Given the description of an element on the screen output the (x, y) to click on. 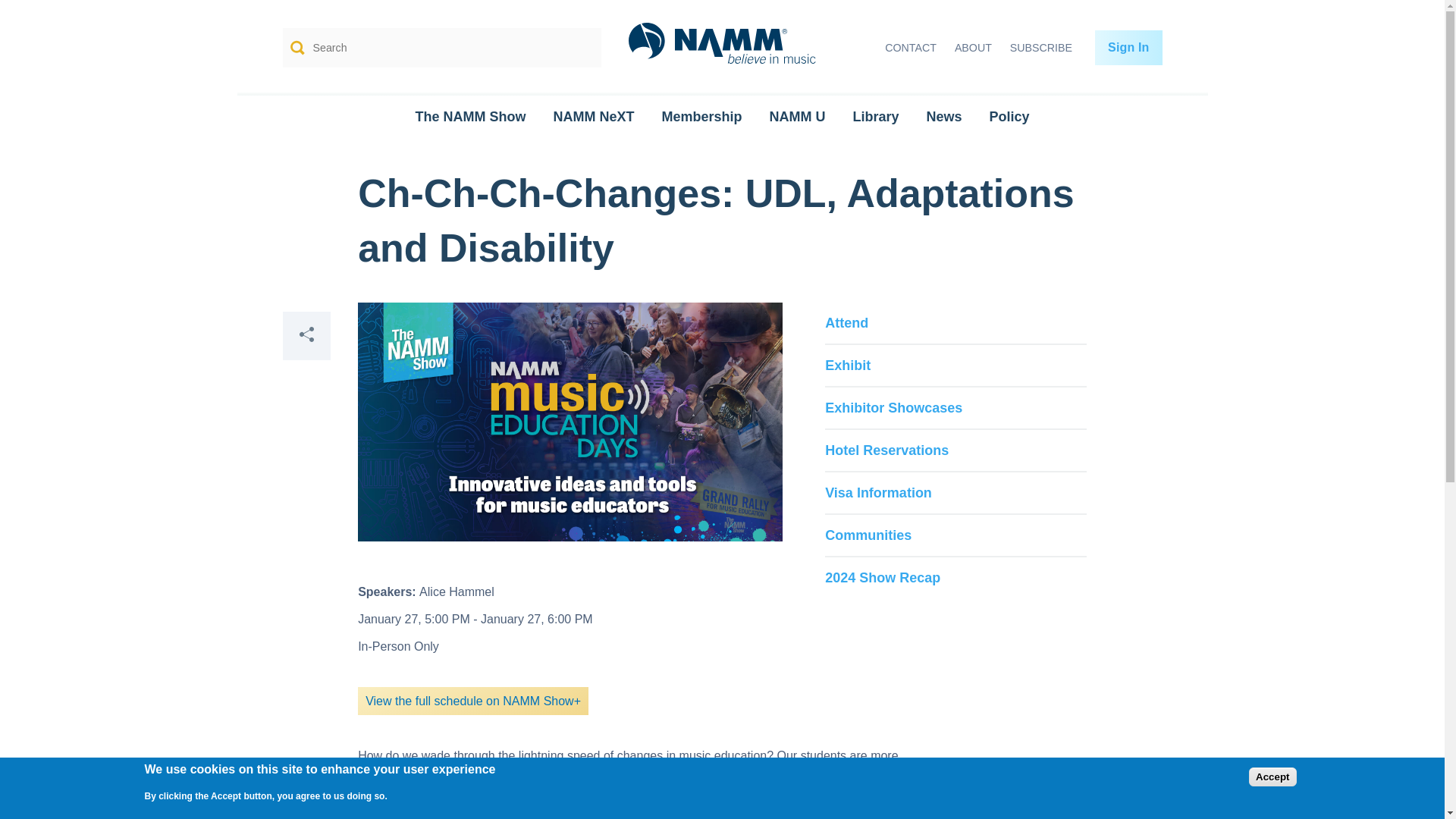
The NAMM Show (469, 116)
Manage Your Subscriptions to NAMM communications (1041, 47)
ABOUT (972, 47)
News (943, 116)
NAMM NeXT (592, 116)
Membership (701, 116)
CONTACT (910, 47)
NAMM Home (721, 47)
NAMM U (796, 116)
Apply (579, 47)
Library (875, 116)
About (972, 47)
Sign In (1127, 47)
Policy (1009, 116)
